Given the description of an element on the screen output the (x, y) to click on. 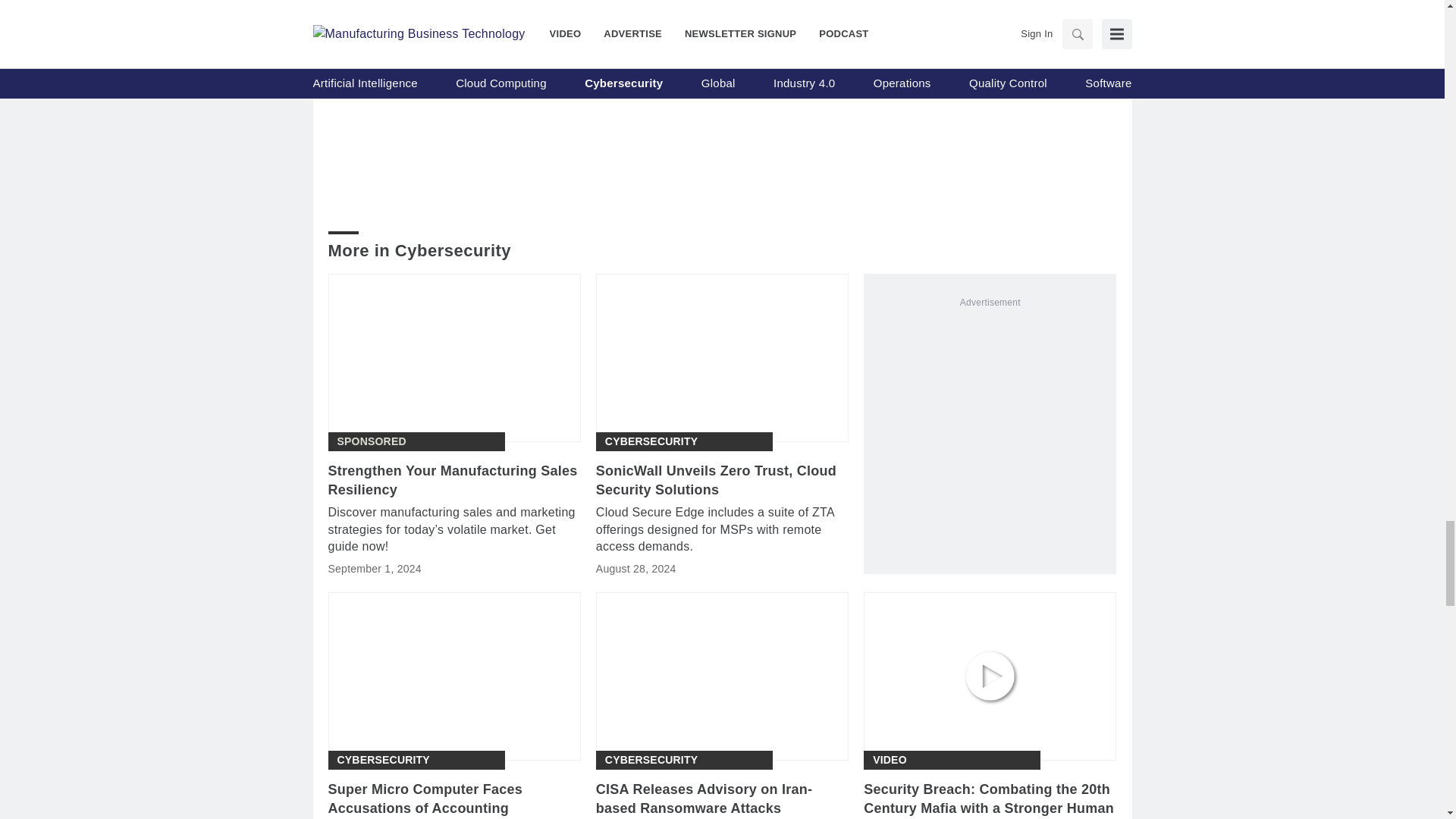
Cybersecurity (382, 760)
Sponsored (371, 441)
Video (889, 760)
Cybersecurity (651, 441)
Cybersecurity (651, 760)
